Given the description of an element on the screen output the (x, y) to click on. 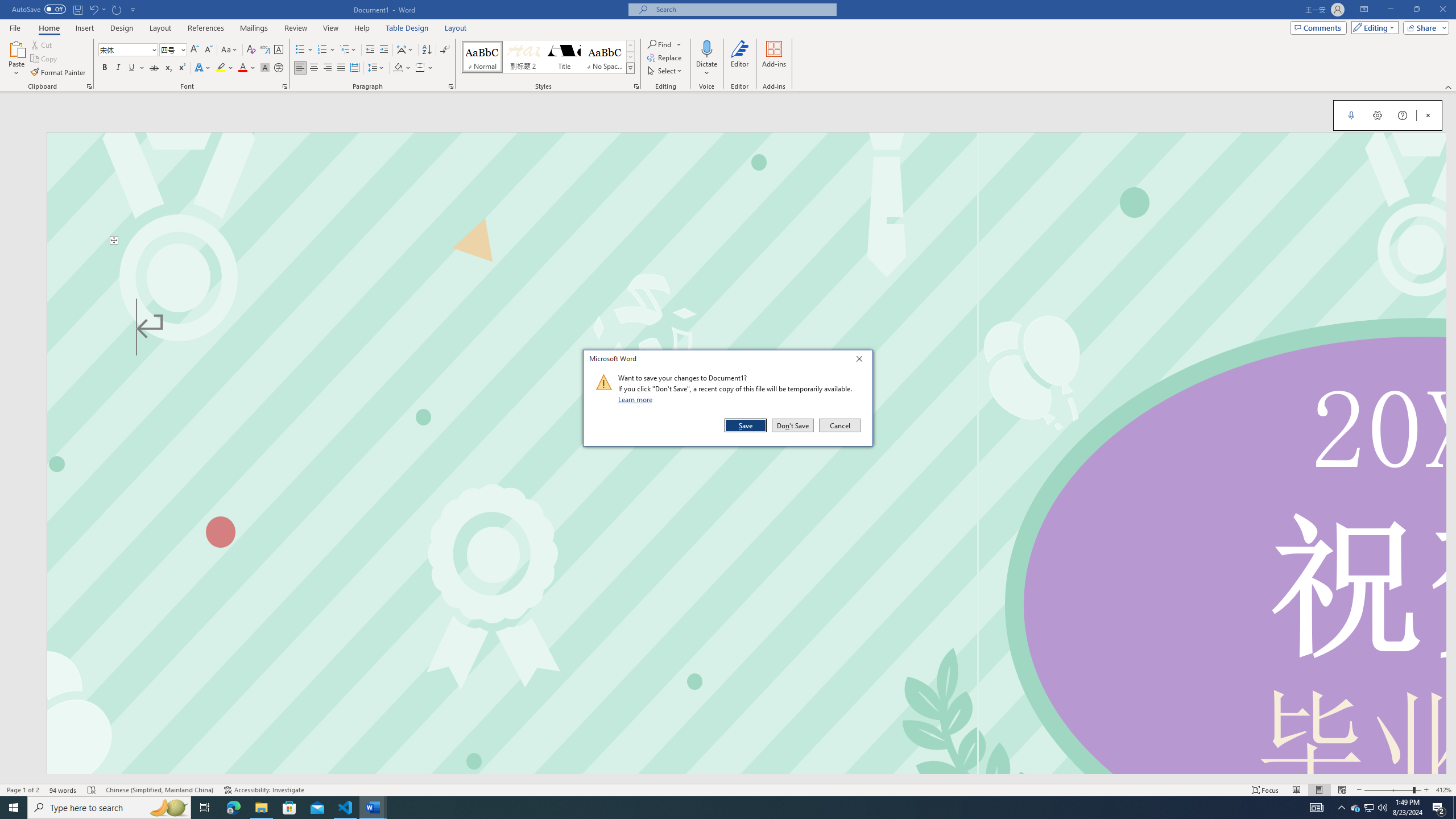
Learn more (636, 399)
Dictation Settings (1377, 115)
Undo Text Fill Effect (92, 9)
